Given the description of an element on the screen output the (x, y) to click on. 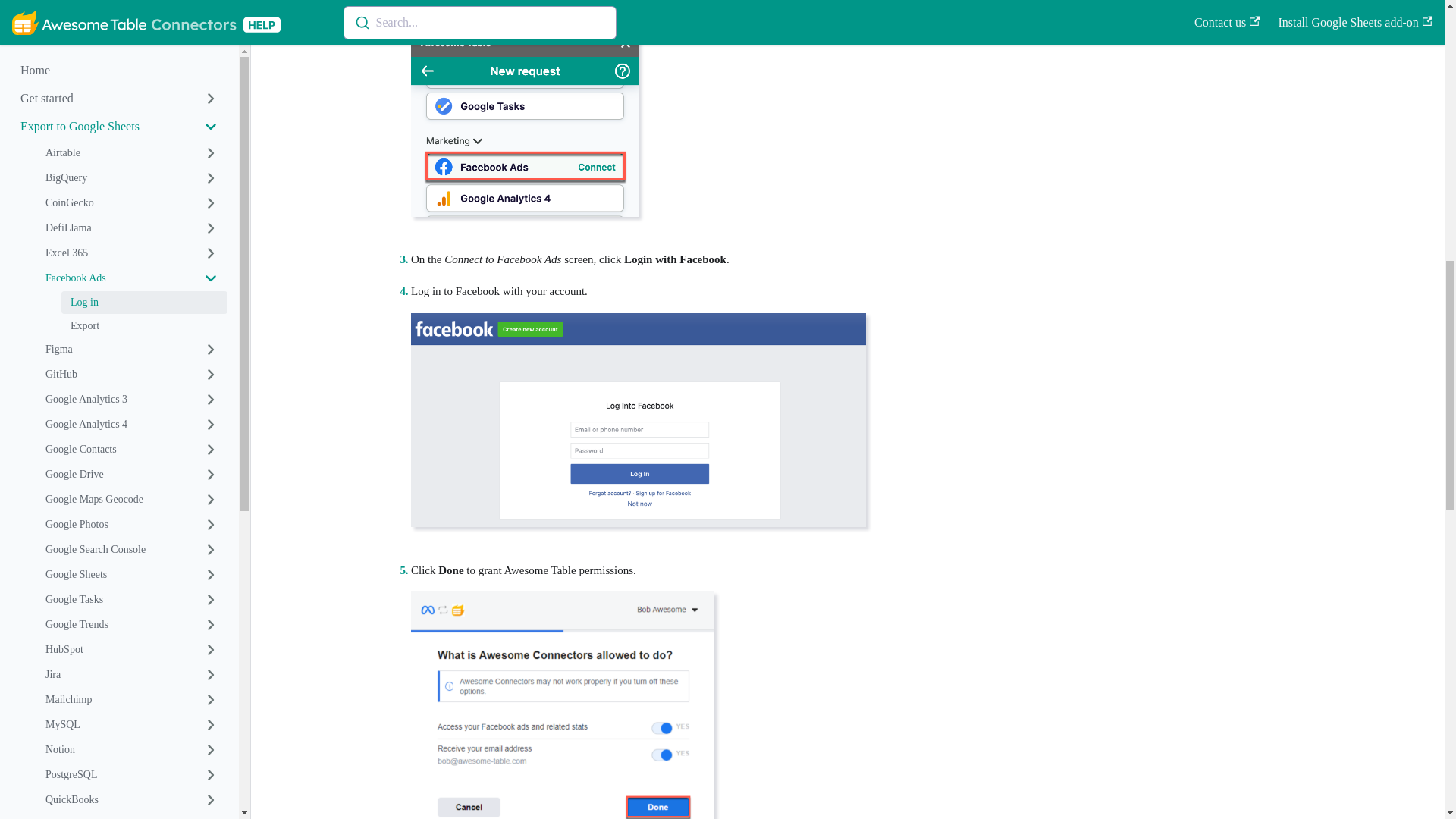
REST API (131, 9)
